Given the description of an element on the screen output the (x, y) to click on. 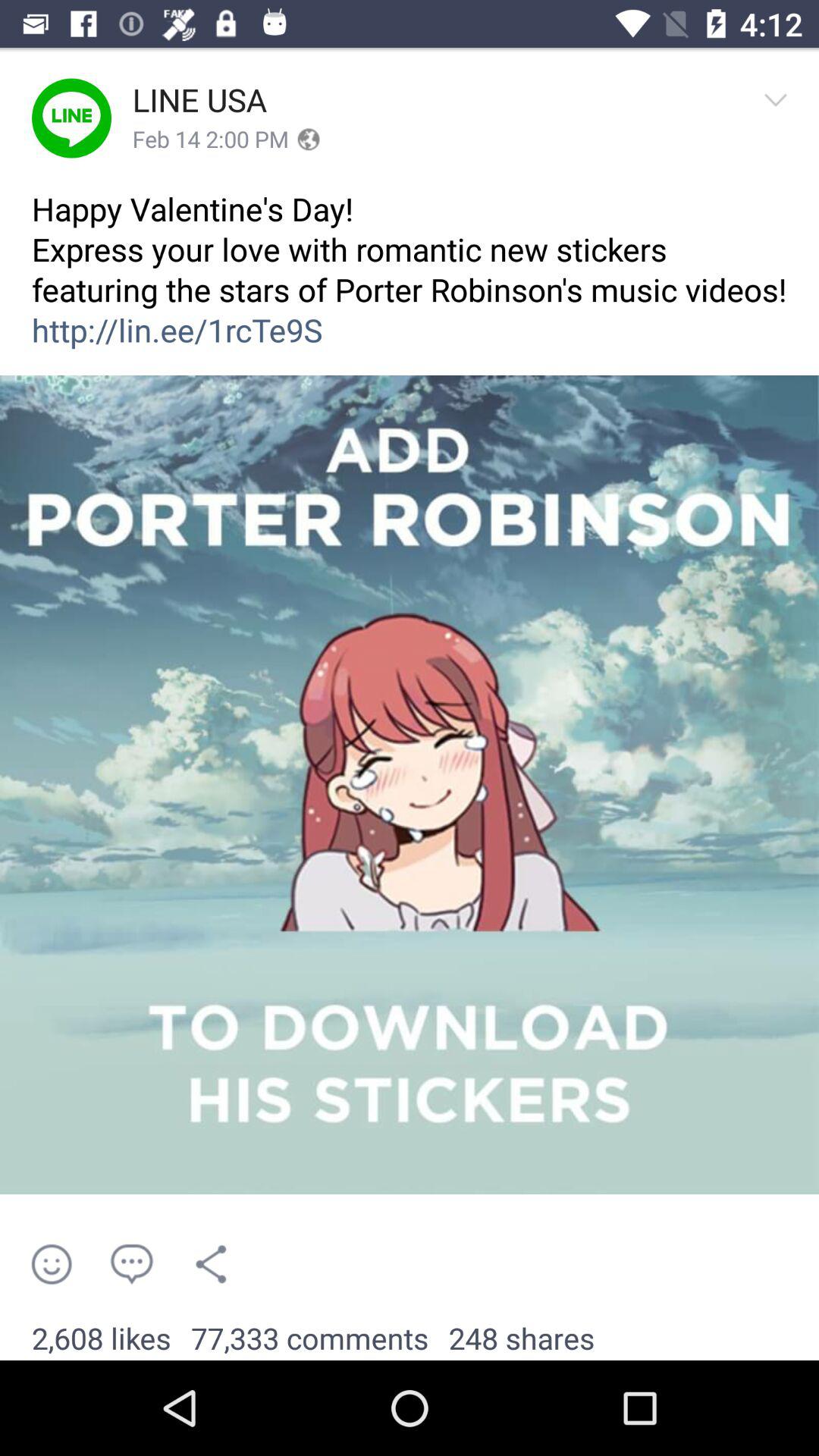
select the item above 2,608 likes item (51, 1264)
